Given the description of an element on the screen output the (x, y) to click on. 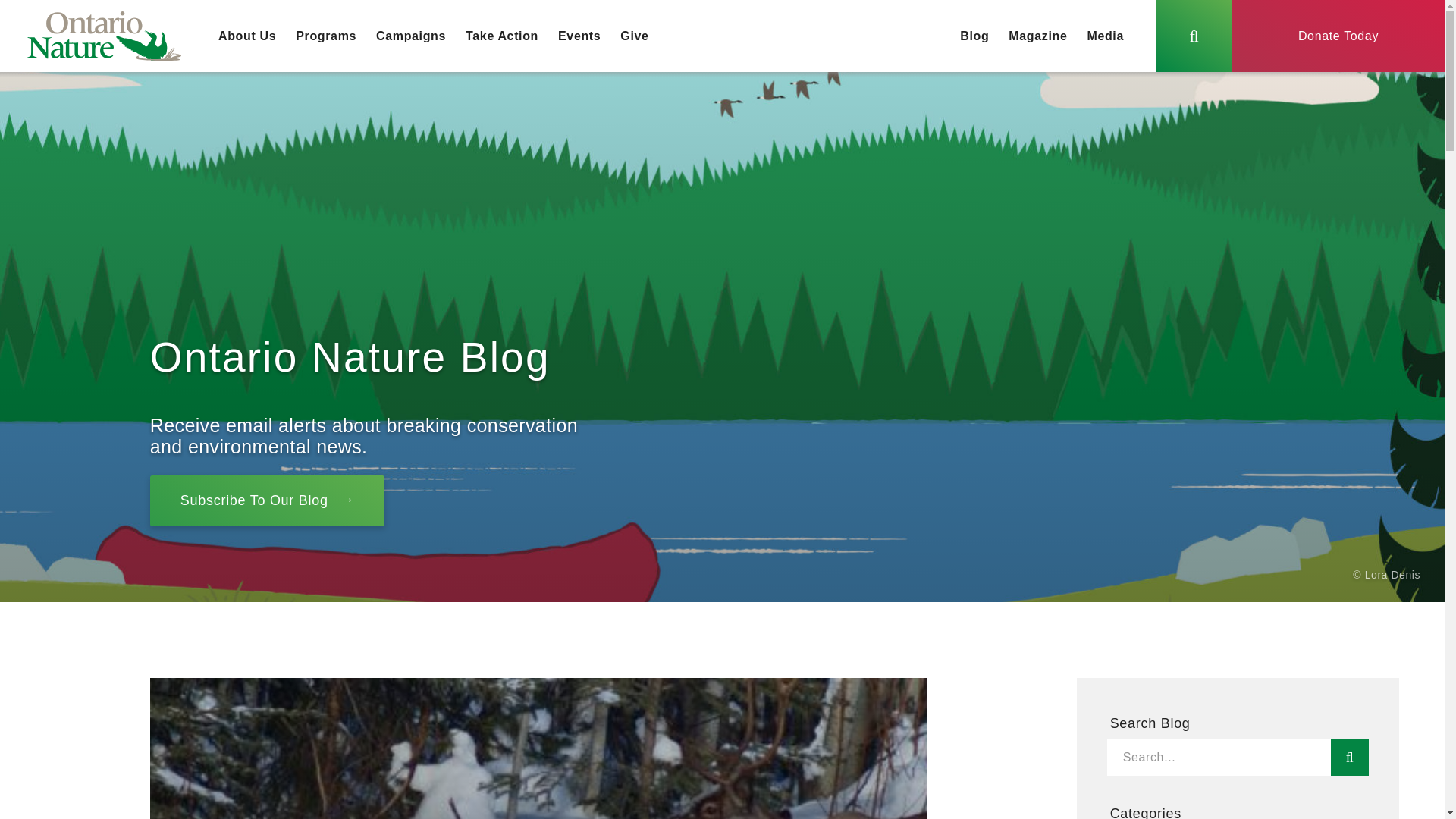
Enter search term (1218, 757)
Programs (325, 36)
Search blog posts (1349, 757)
Signup to receive blog update notifications (267, 500)
Home (104, 35)
About Us (246, 36)
